Given the description of an element on the screen output the (x, y) to click on. 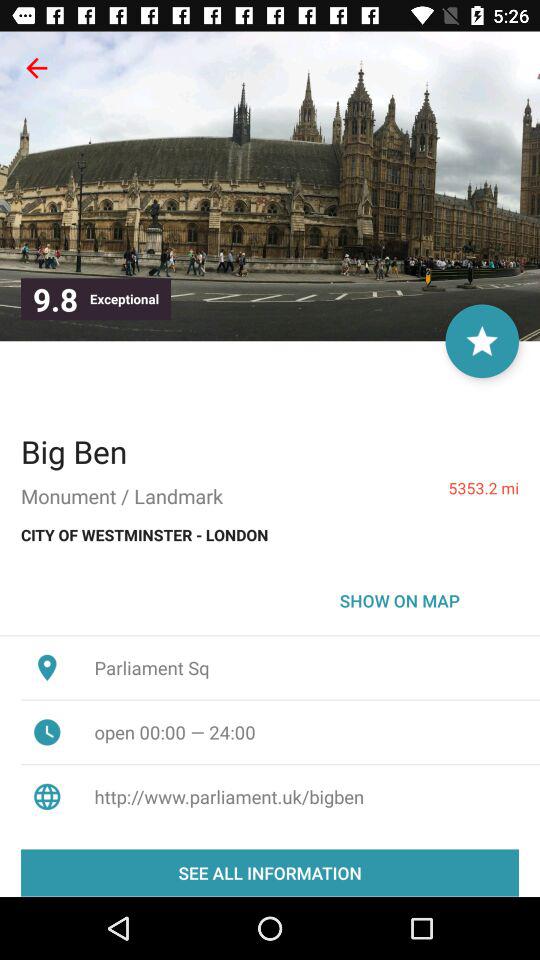
scroll until show on map item (399, 600)
